Given the description of an element on the screen output the (x, y) to click on. 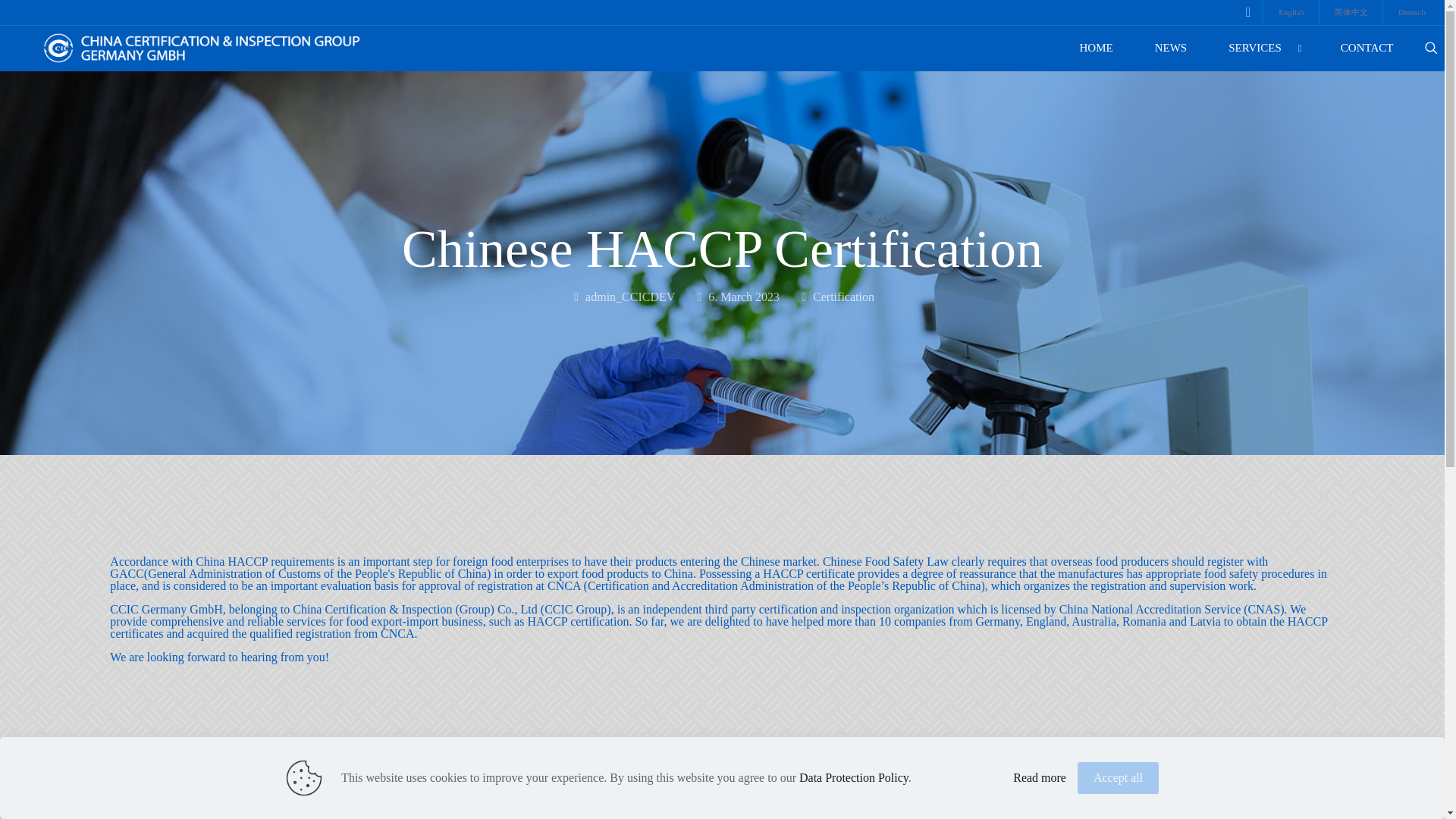
Deutsch (1412, 12)
NEWS (1171, 48)
HOME (1096, 48)
Deutsch (1412, 12)
English (1291, 12)
English (1291, 12)
SERVICES (1264, 48)
CONTACT (1366, 48)
